Given the description of an element on the screen output the (x, y) to click on. 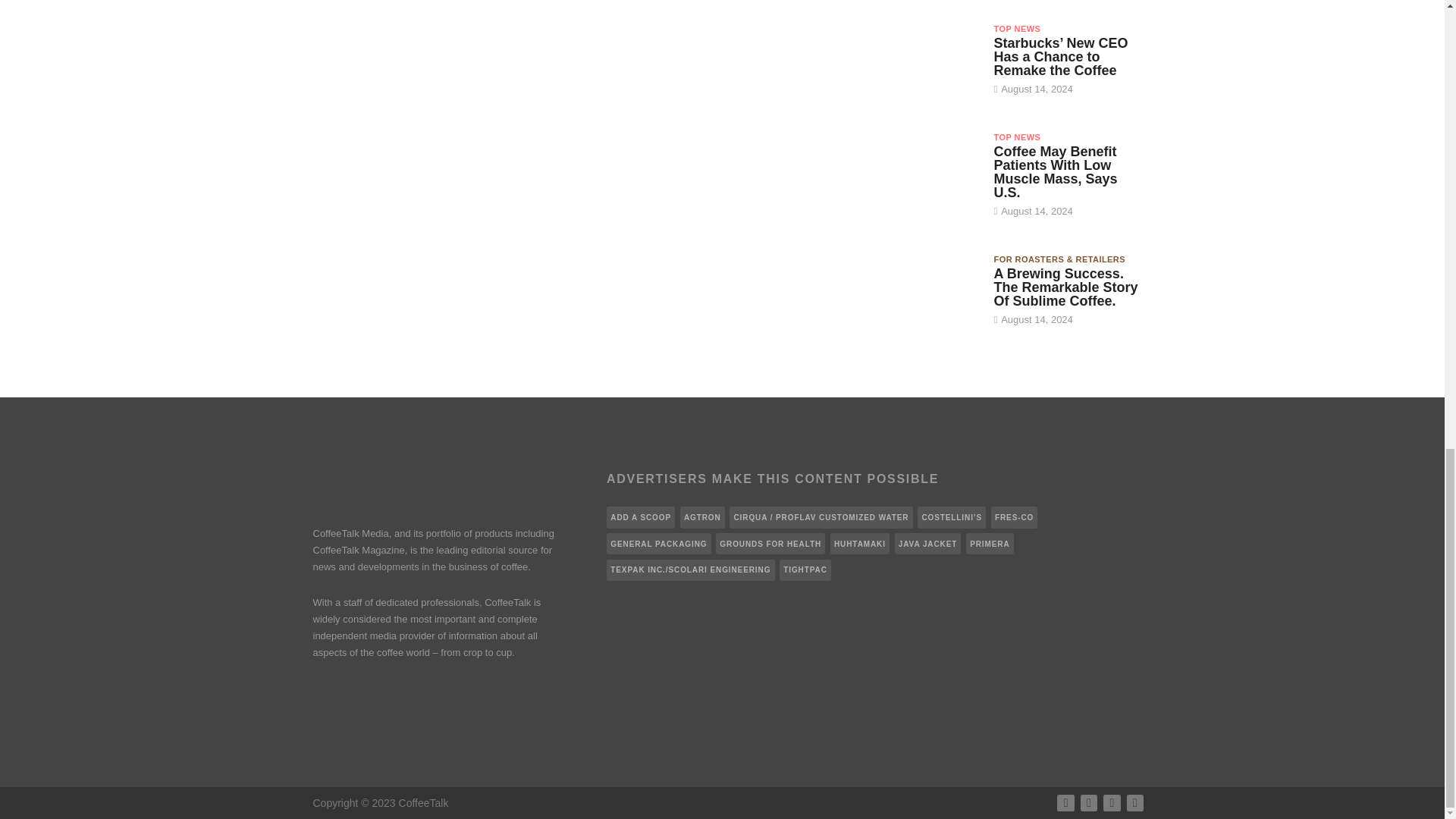
A Brewing Success. The Remarkable Story Of Sublime Coffee. (927, 290)
A Brewing Success. The Remarkable Story Of Sublime Coffee. (1064, 287)
